Given the description of an element on the screen output the (x, y) to click on. 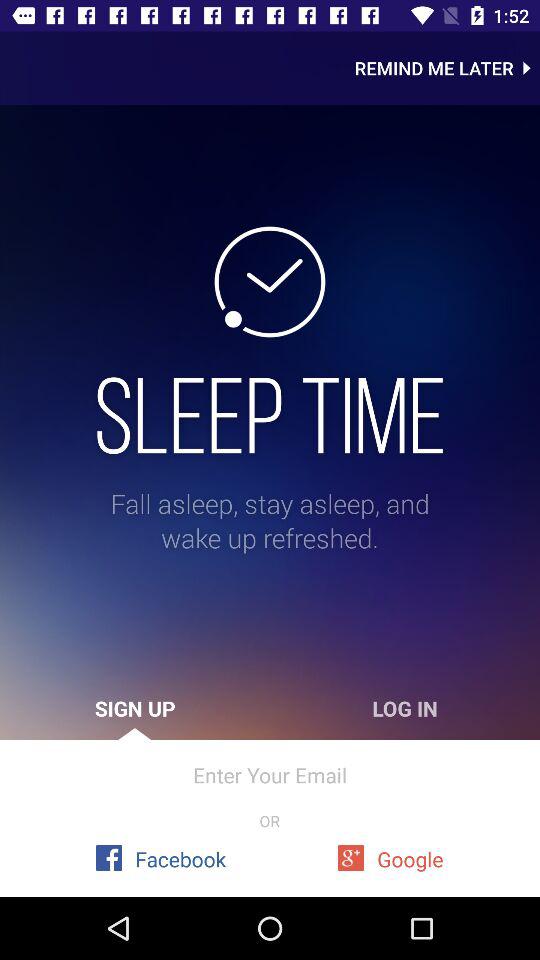
turn on remind me later icon (447, 67)
